Given the description of an element on the screen output the (x, y) to click on. 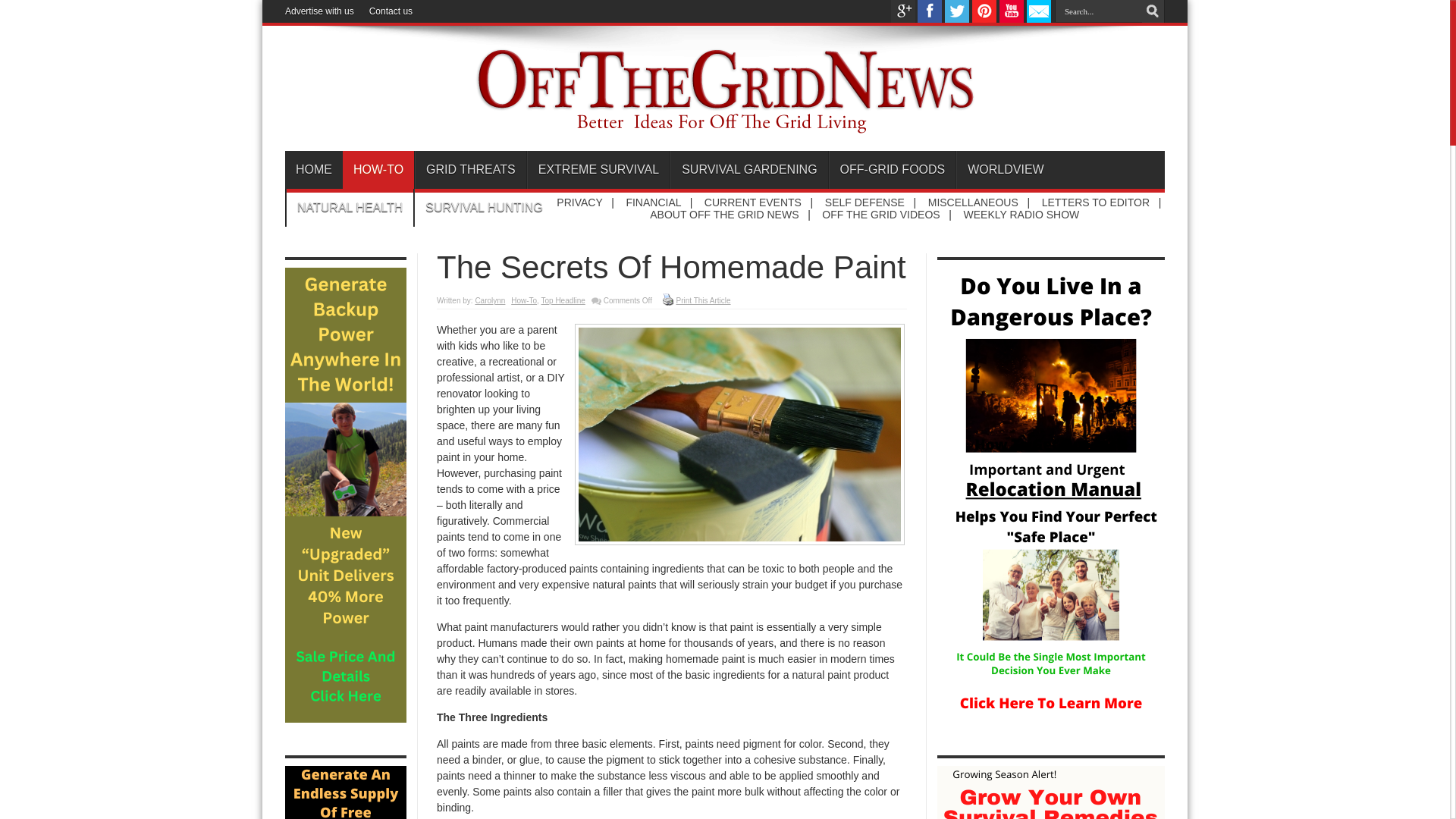
NATURAL HEALTH (349, 207)
GRID THREATS (469, 169)
SURVIVAL HUNTING (483, 207)
ABOUT OFF THE GRID NEWS (723, 214)
EXTREME SURVIVAL (598, 169)
LETTERS TO EDITOR (1096, 202)
Top Headline (563, 300)
Send an email to Off The Grid News (1038, 19)
Print This Article (668, 299)
FINANCIAL (653, 202)
SELF DEFENSE (864, 202)
Search... (1097, 11)
Search (1152, 11)
OFF-GRID FOODS (892, 169)
WEEKLY RADIO SHOW (1021, 214)
